Given the description of an element on the screen output the (x, y) to click on. 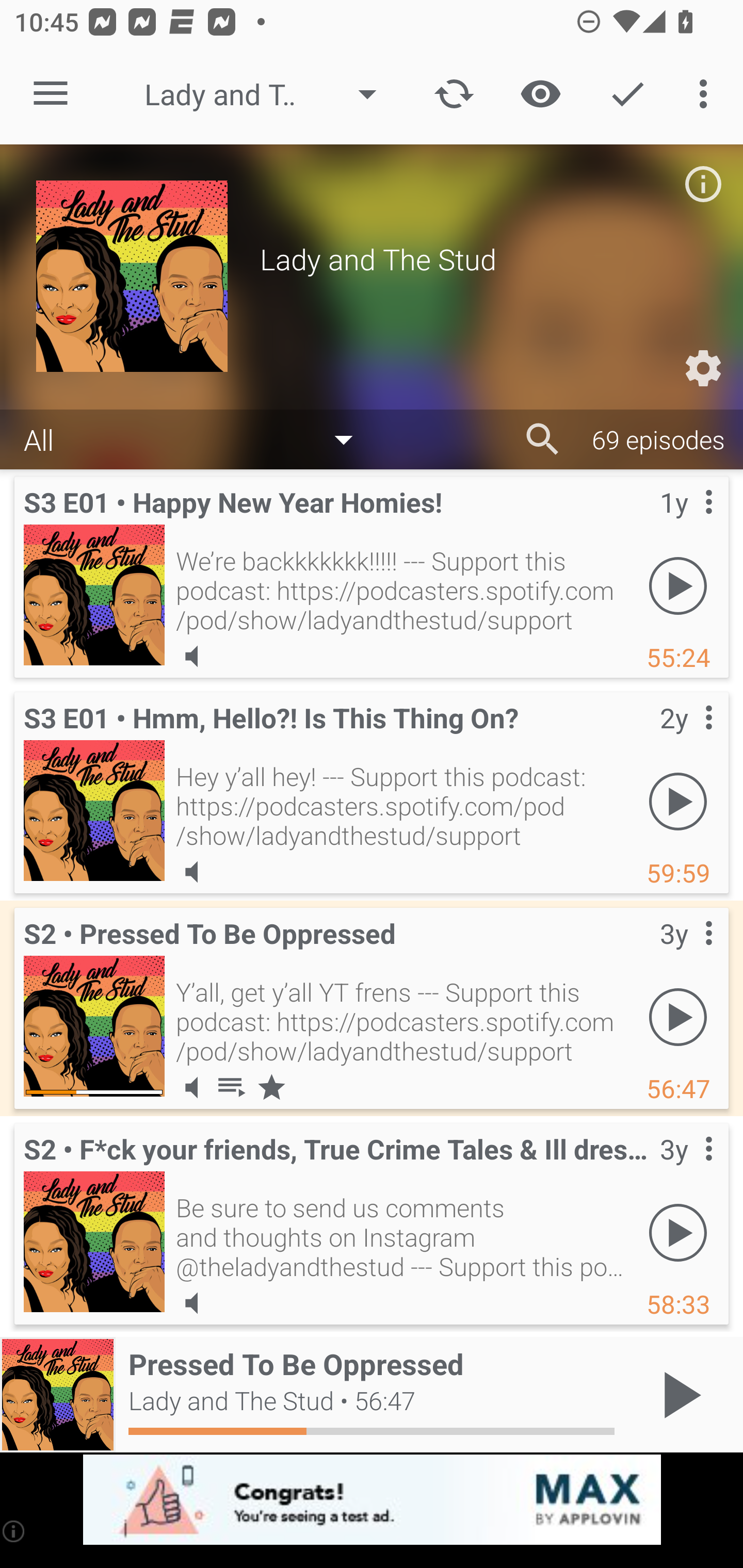
Open navigation sidebar (50, 93)
Update (453, 93)
Show / Hide played content (540, 93)
Action Mode (626, 93)
More options (706, 93)
Lady and The Stud (270, 94)
Podcast description (703, 184)
Custom Settings (703, 368)
Search (542, 439)
All (197, 438)
Contextual menu (685, 522)
Happy New Year Homies! (93, 594)
Play (677, 585)
Contextual menu (685, 738)
Hmm, Hello?! Is This Thing On? (93, 810)
Play (677, 801)
Contextual menu (685, 954)
Pressed To Be Oppressed (93, 1026)
Play (677, 1016)
Contextual menu (685, 1169)
Play (677, 1232)
Play / Pause (677, 1394)
app-monetization (371, 1500)
(i) (14, 1531)
